Given the description of an element on the screen output the (x, y) to click on. 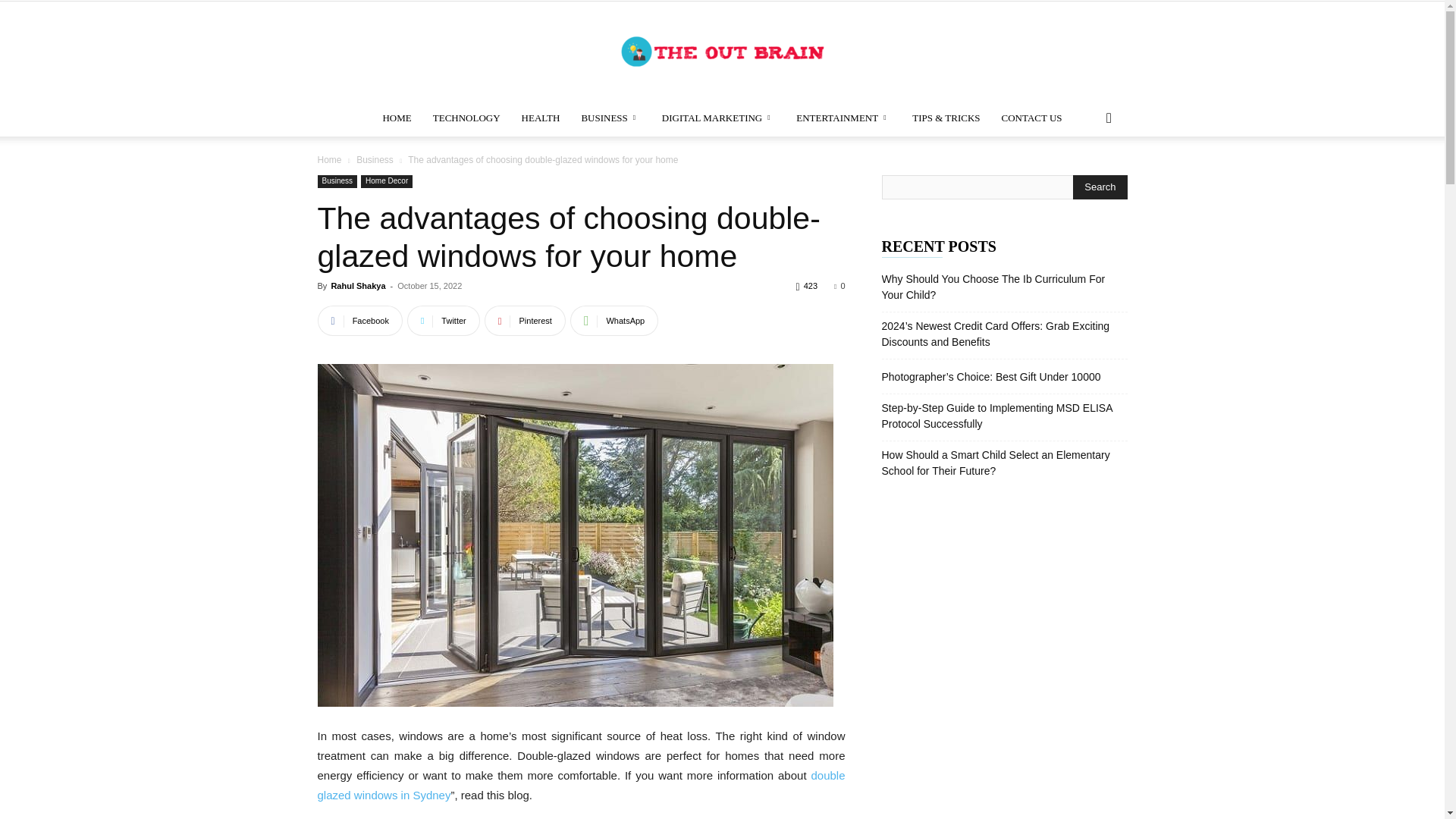
TECHNOLOGY (466, 117)
HOME (396, 117)
Facebook (359, 320)
Pinterest (525, 320)
Twitter (443, 320)
HEALTH (540, 117)
View all posts in Business (374, 159)
WhatsApp (614, 320)
BUSINESS (610, 117)
Search (1099, 187)
